Given the description of an element on the screen output the (x, y) to click on. 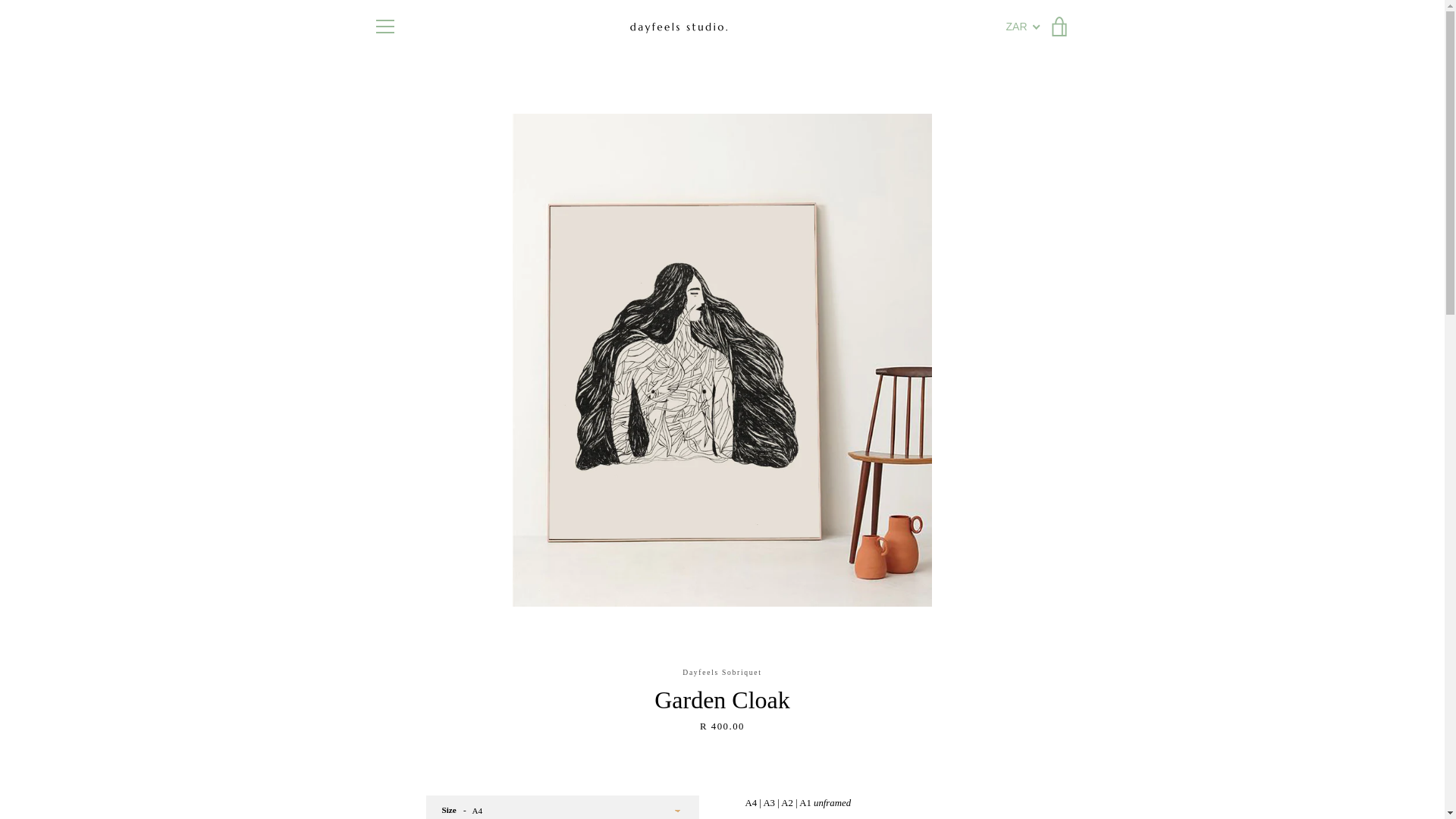
VIEW CART (1059, 26)
CONTACT (392, 689)
Dayfeels on Instagram (449, 779)
Dayfeels on Twitter (398, 779)
EXPAND NAVIGATION (384, 26)
Dayfeels on Pinterest (423, 779)
COMMISSIONS (402, 612)
Dayfeels on Facebook (372, 779)
GRAPHIC DESIGN (410, 631)
